Given the description of an element on the screen output the (x, y) to click on. 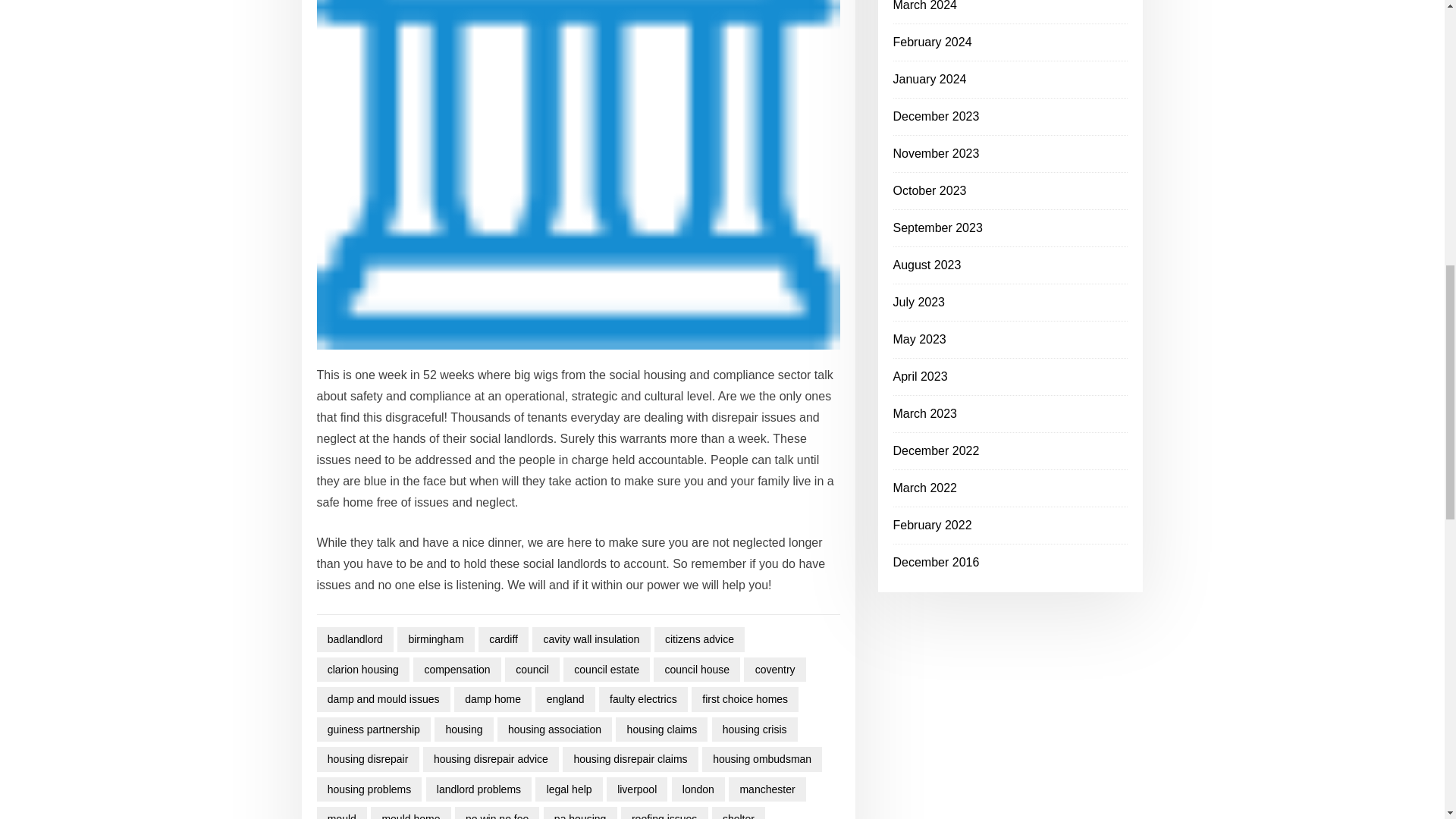
birmingham (435, 639)
guiness partnership (373, 729)
damp home (492, 699)
badlandlord (355, 639)
england (564, 699)
cavity wall insulation (590, 639)
damp and mould issues (383, 699)
first choice homes (744, 699)
clarion housing (363, 669)
coventry (774, 669)
